Given the description of an element on the screen output the (x, y) to click on. 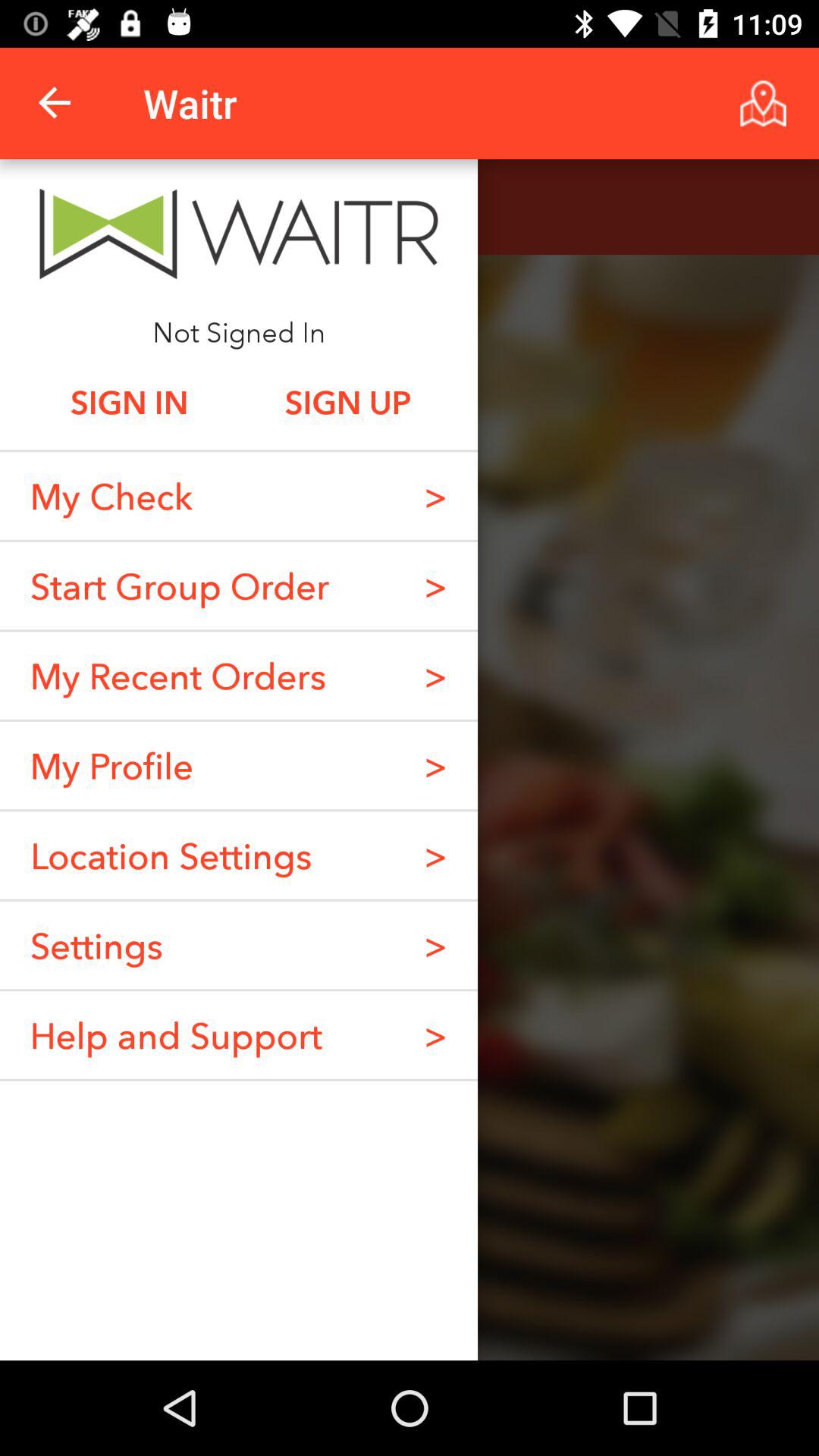
turn on the item next to sign up (128, 401)
